Given the description of an element on the screen output the (x, y) to click on. 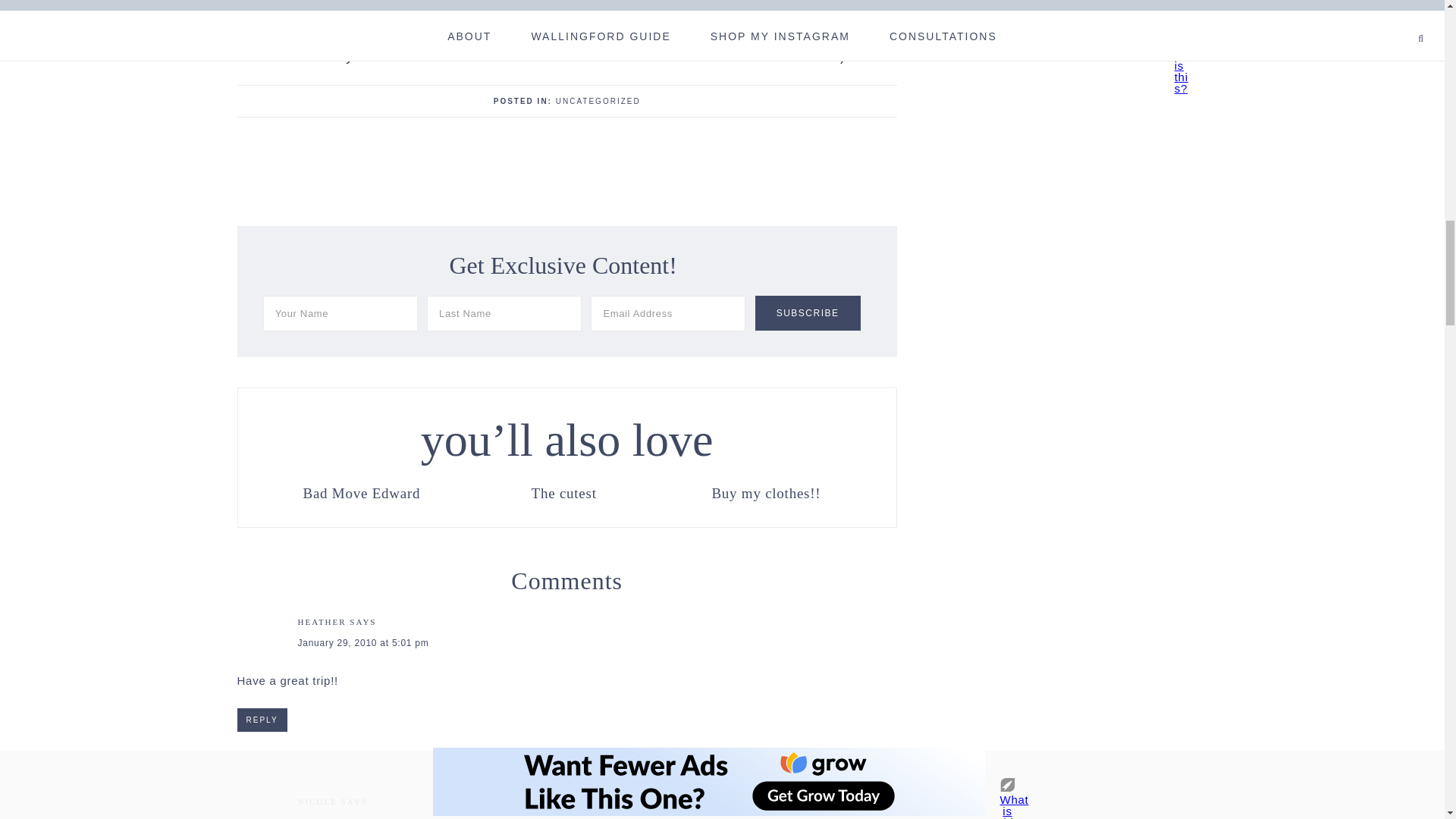
Permanent Link to Bad Move Edward (361, 491)
Bad Move Edward (361, 491)
Subscribe (807, 312)
Permanent Link to The cutest (563, 491)
UNCATEGORIZED (598, 101)
The cutest (563, 491)
Subscribe (807, 312)
Permanent Link to Buy my clothes!! (766, 491)
